Given the description of an element on the screen output the (x, y) to click on. 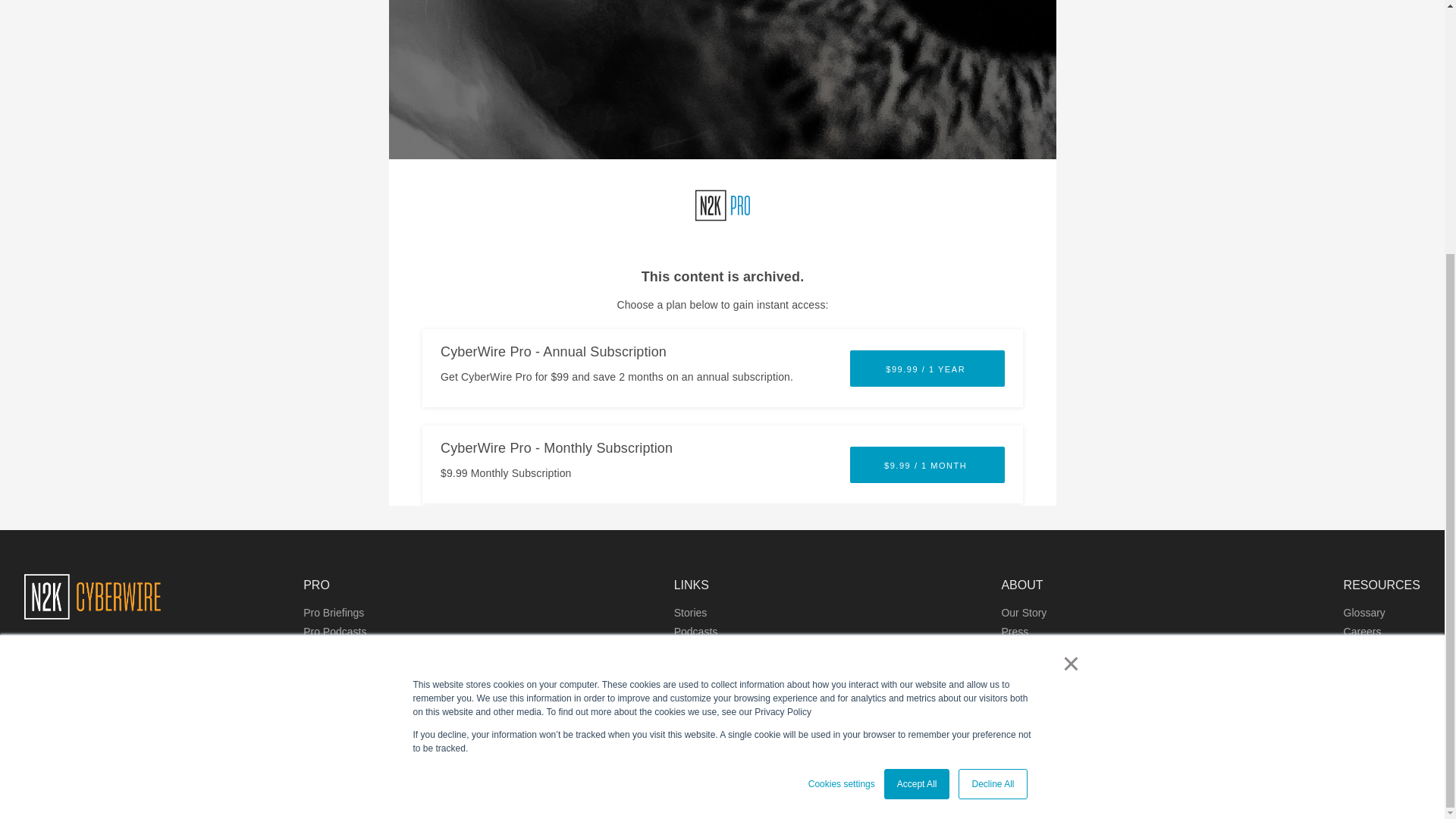
Decline All (992, 424)
Cookies settings (841, 424)
Accept All (916, 424)
